Given the description of an element on the screen output the (x, y) to click on. 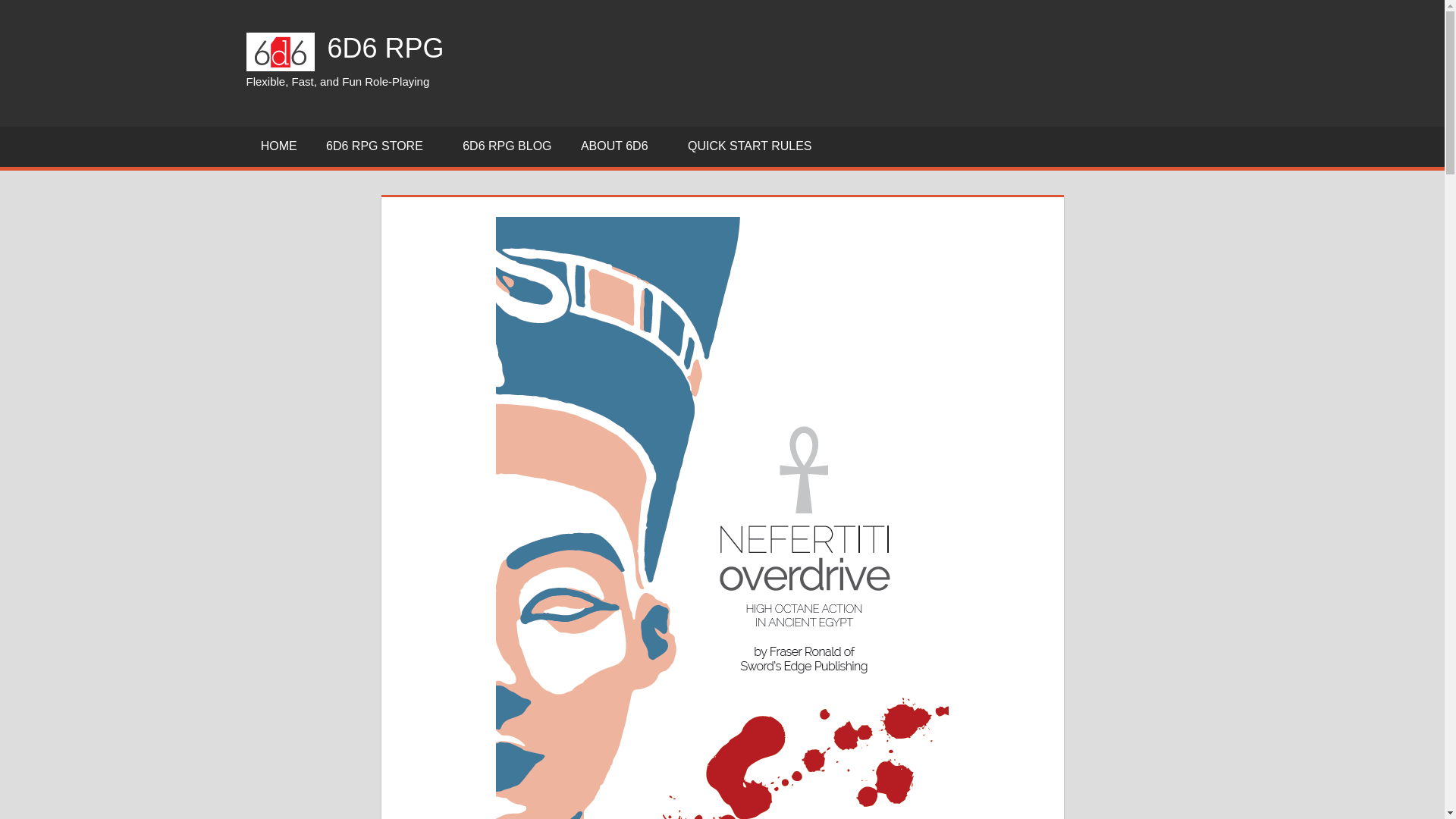
6D6 RPG BLOG (507, 146)
ABOUT 6D6 (619, 146)
HOME (278, 146)
6D6 RPG (385, 47)
QUICK START RULES (754, 146)
6D6 RPG STORE (379, 146)
